Given the description of an element on the screen output the (x, y) to click on. 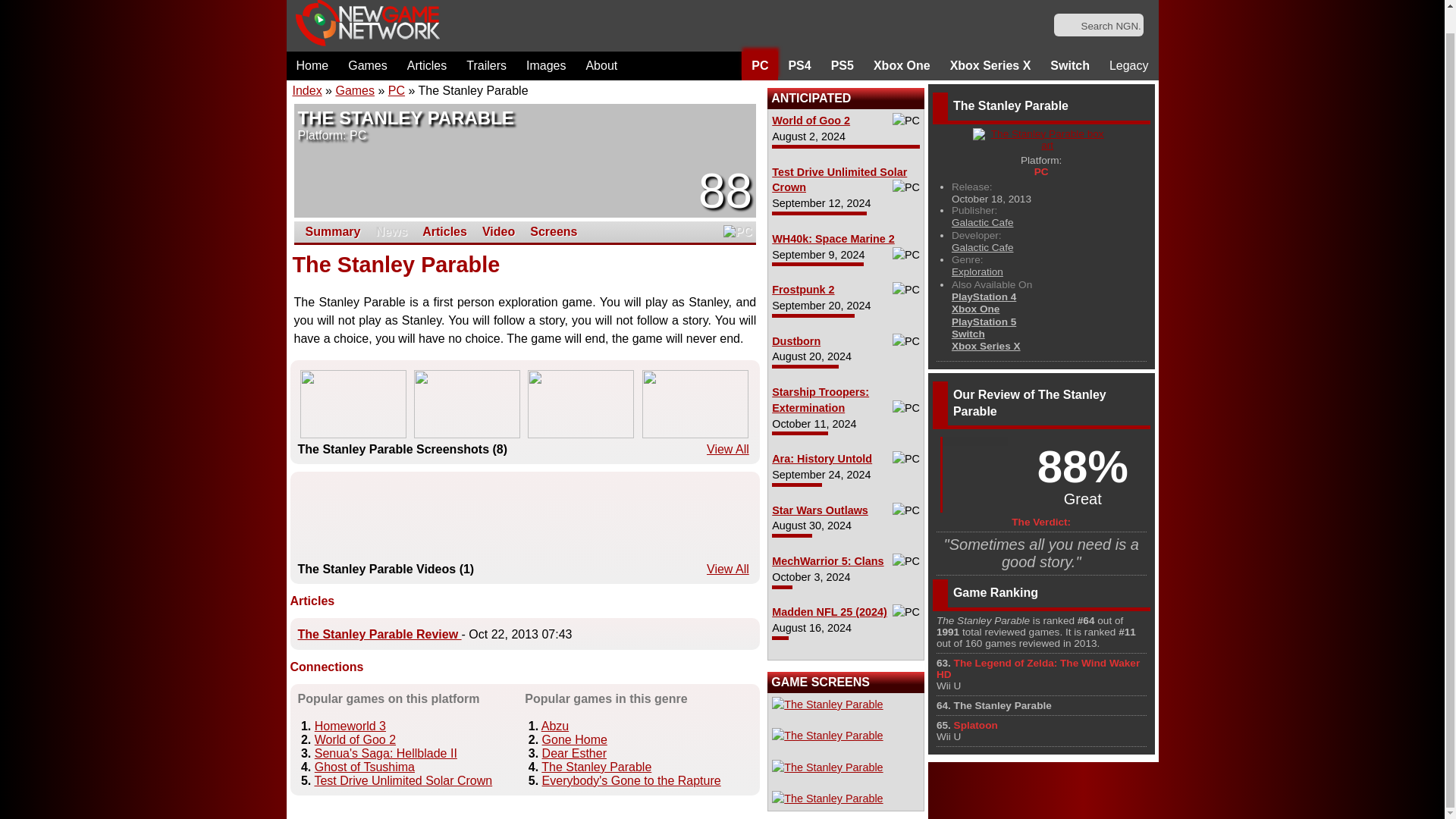
Trailers (486, 65)
Games (367, 65)
Articles (427, 65)
Images (545, 65)
Search NGN...  (1100, 25)
About (601, 65)
Home (312, 65)
Legacy (1128, 65)
Search NGN...  (1100, 25)
